Given the description of an element on the screen output the (x, y) to click on. 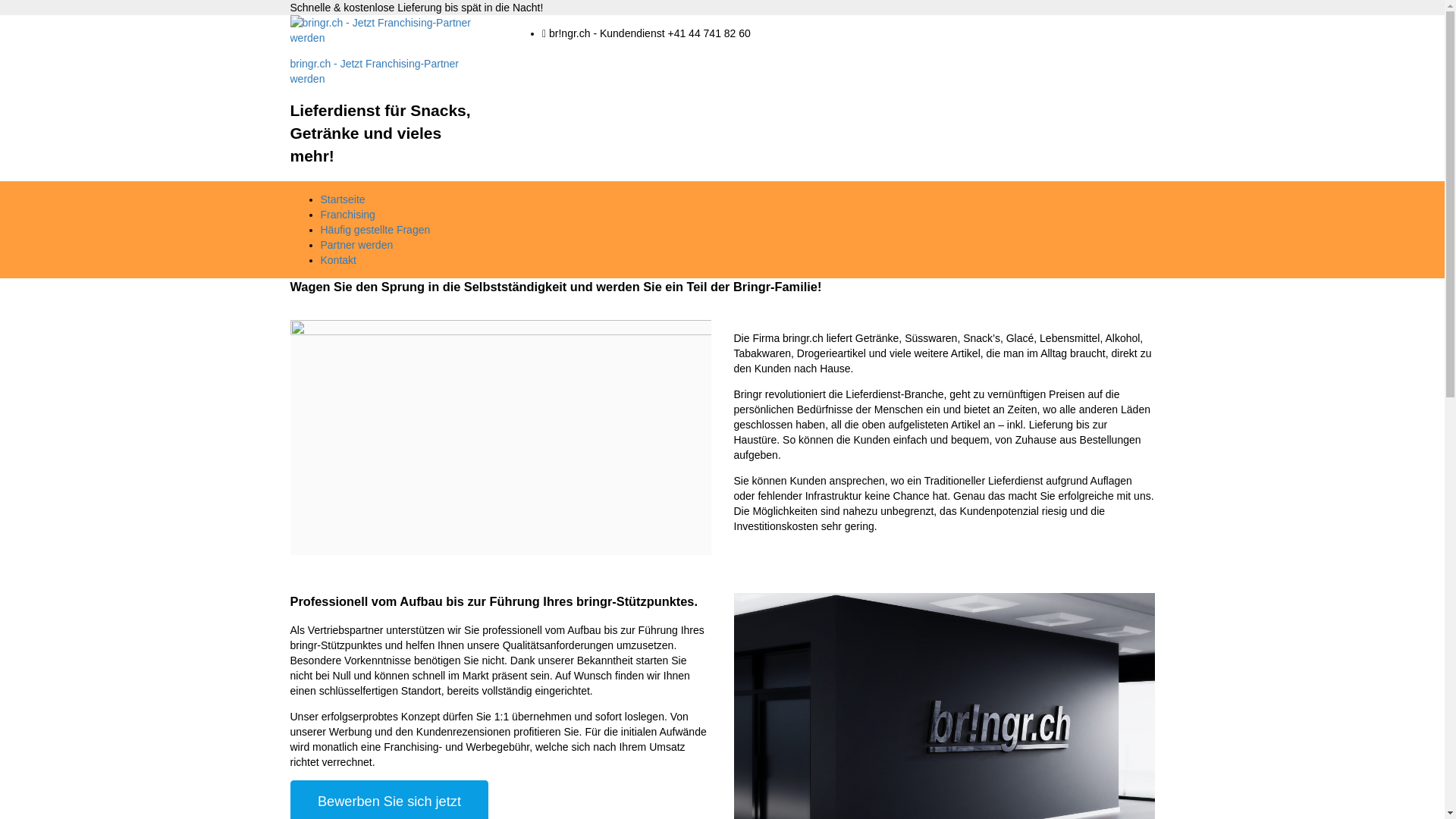
Kontakt Element type: text (337, 260)
bringr.ch - Jetzt Franchising-Partner werden Element type: text (373, 70)
Franchising Element type: text (347, 214)
Partner werden Element type: text (356, 244)
Startseite Element type: text (342, 199)
